Given the description of an element on the screen output the (x, y) to click on. 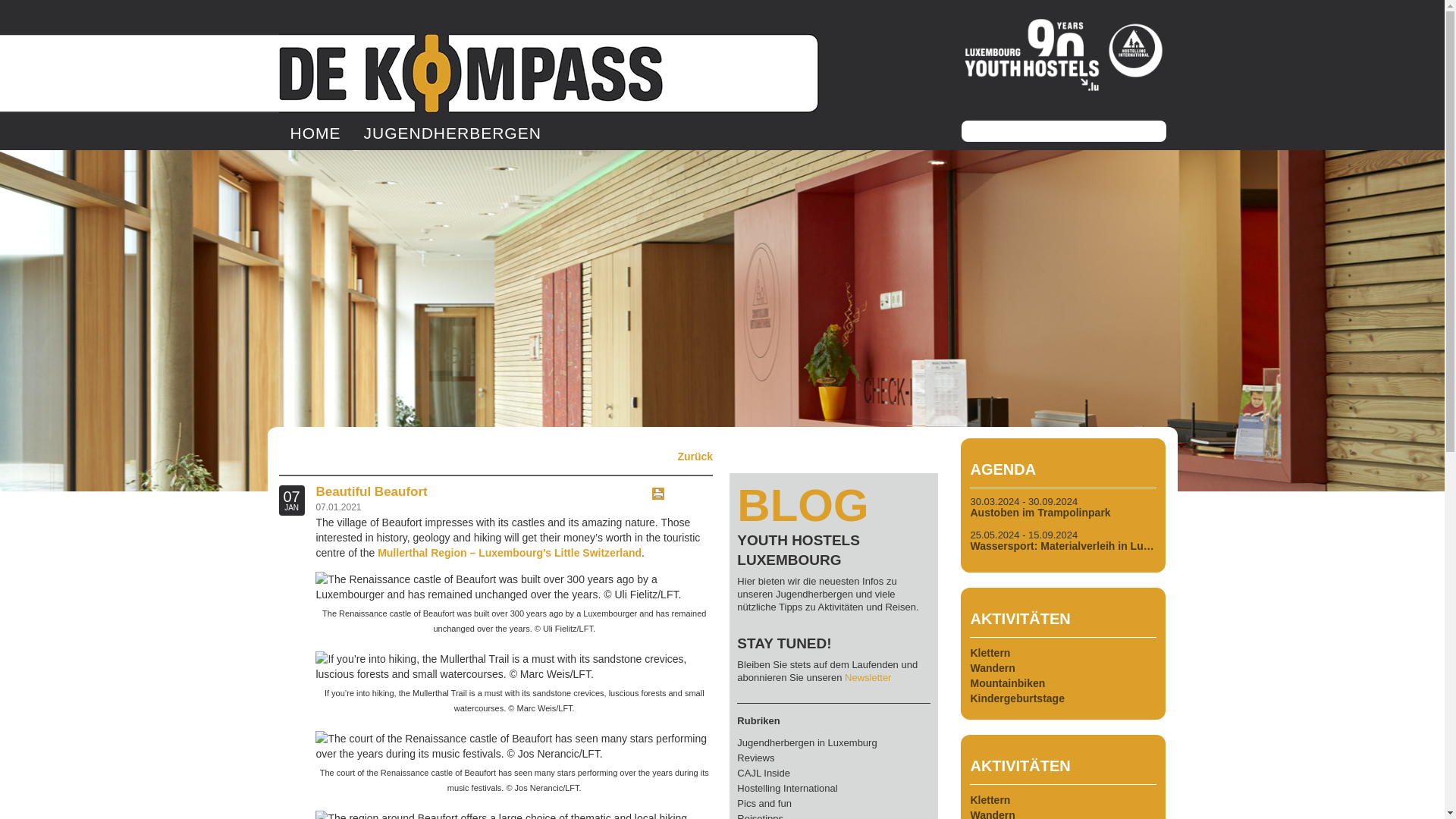
Newsletter (867, 677)
JUGENDHERBERGEN (451, 131)
CAJL Inside (763, 772)
Reisetipps (759, 816)
Reviews (755, 757)
HOME (315, 131)
Jugendherbergen in Luxemburg (806, 742)
Hostelling International (786, 787)
Pics and fun (764, 803)
